Given the description of an element on the screen output the (x, y) to click on. 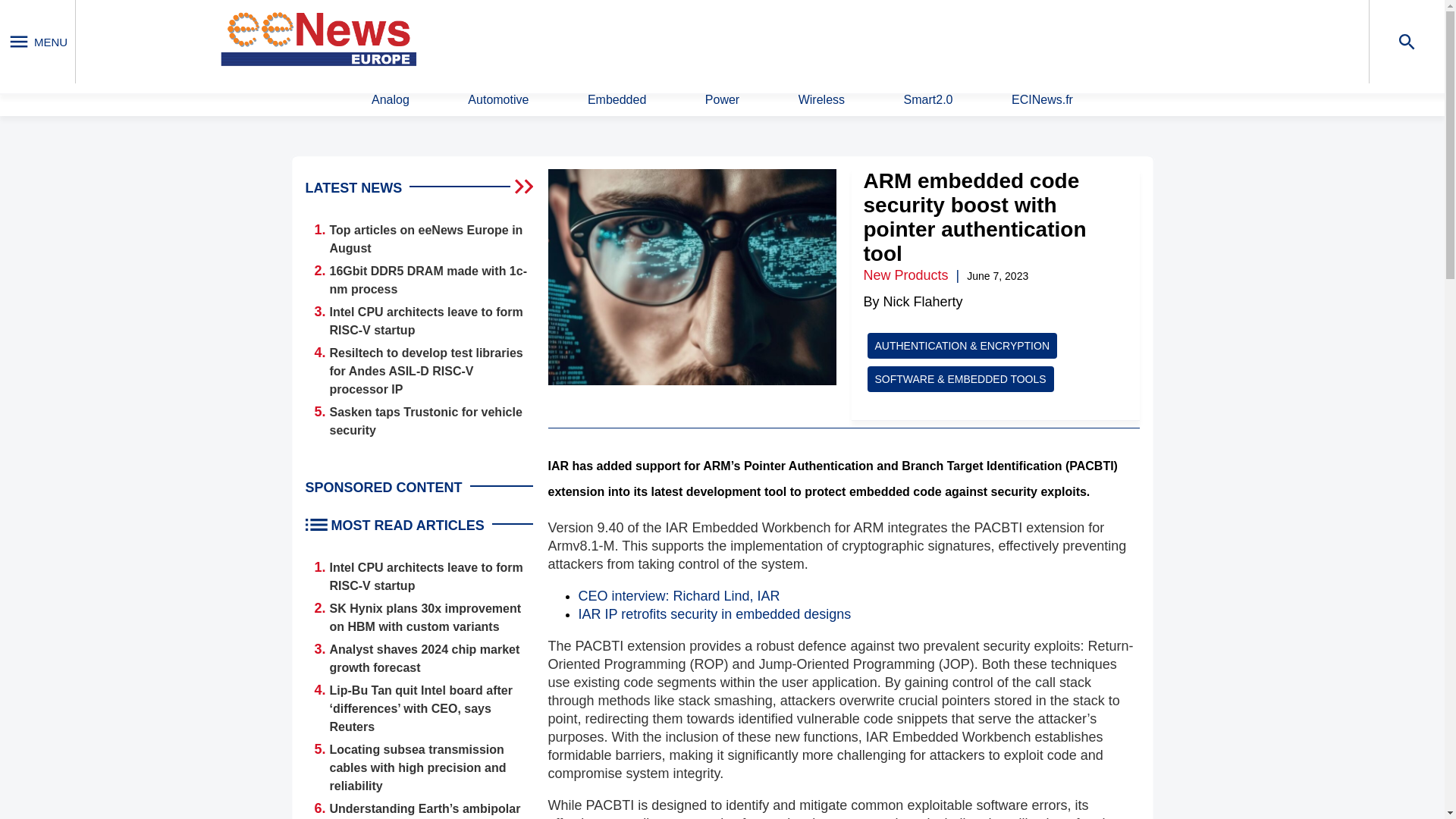
Power (721, 99)
Search (949, 40)
Analog (390, 99)
Embedded (617, 99)
Wireless (820, 99)
Automotive (497, 99)
Smart2.0 (928, 99)
ECINews.fr (1042, 99)
